Given the description of an element on the screen output the (x, y) to click on. 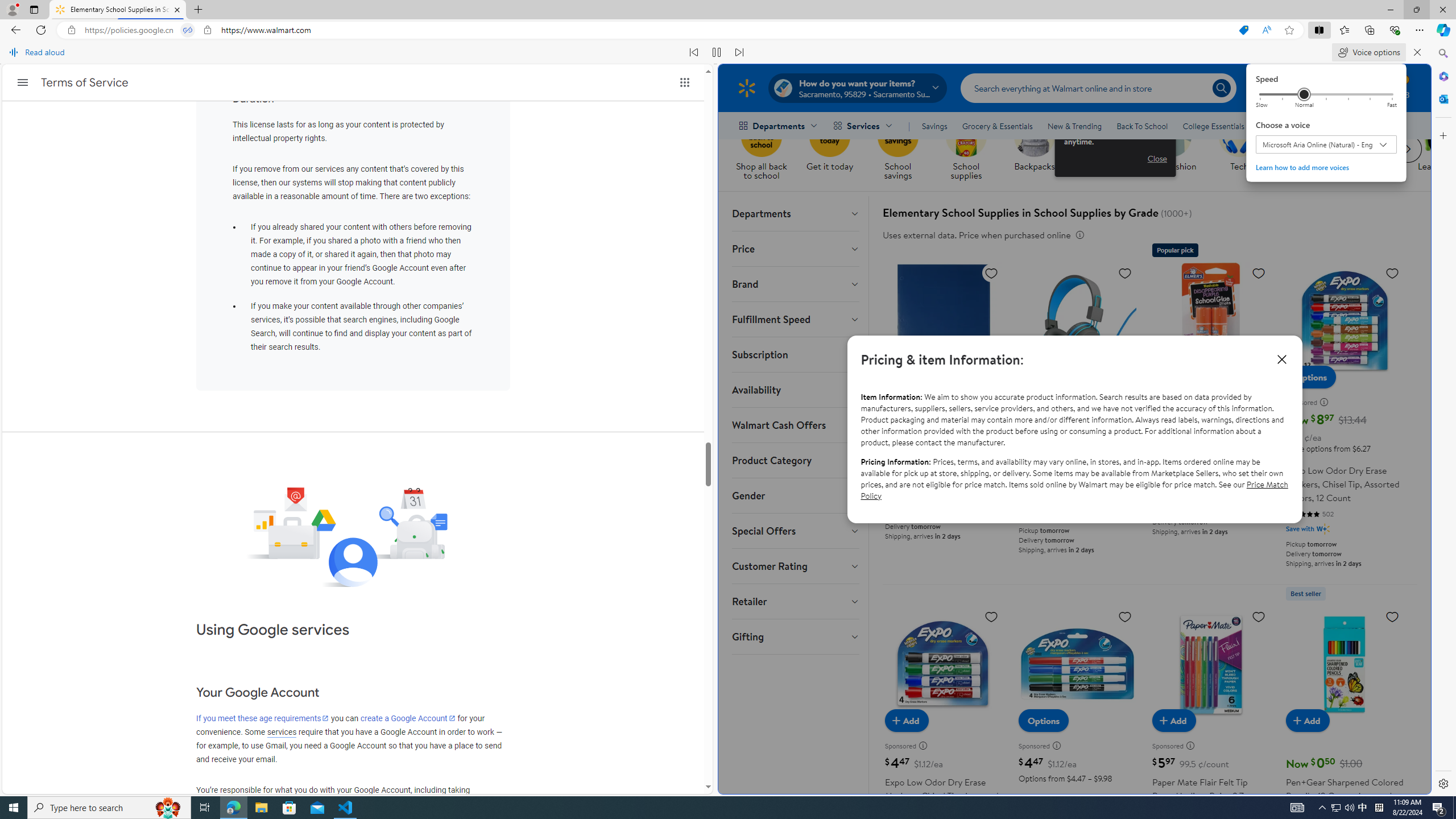
Visual Studio Code - 1 running window (345, 807)
User Promoted Notification Area (1342, 807)
Close dialog (1280, 359)
Notification Chevron (1335, 807)
Microsoft Store (1322, 807)
Microsoft Edge - 1 running window (289, 807)
